Given the description of an element on the screen output the (x, y) to click on. 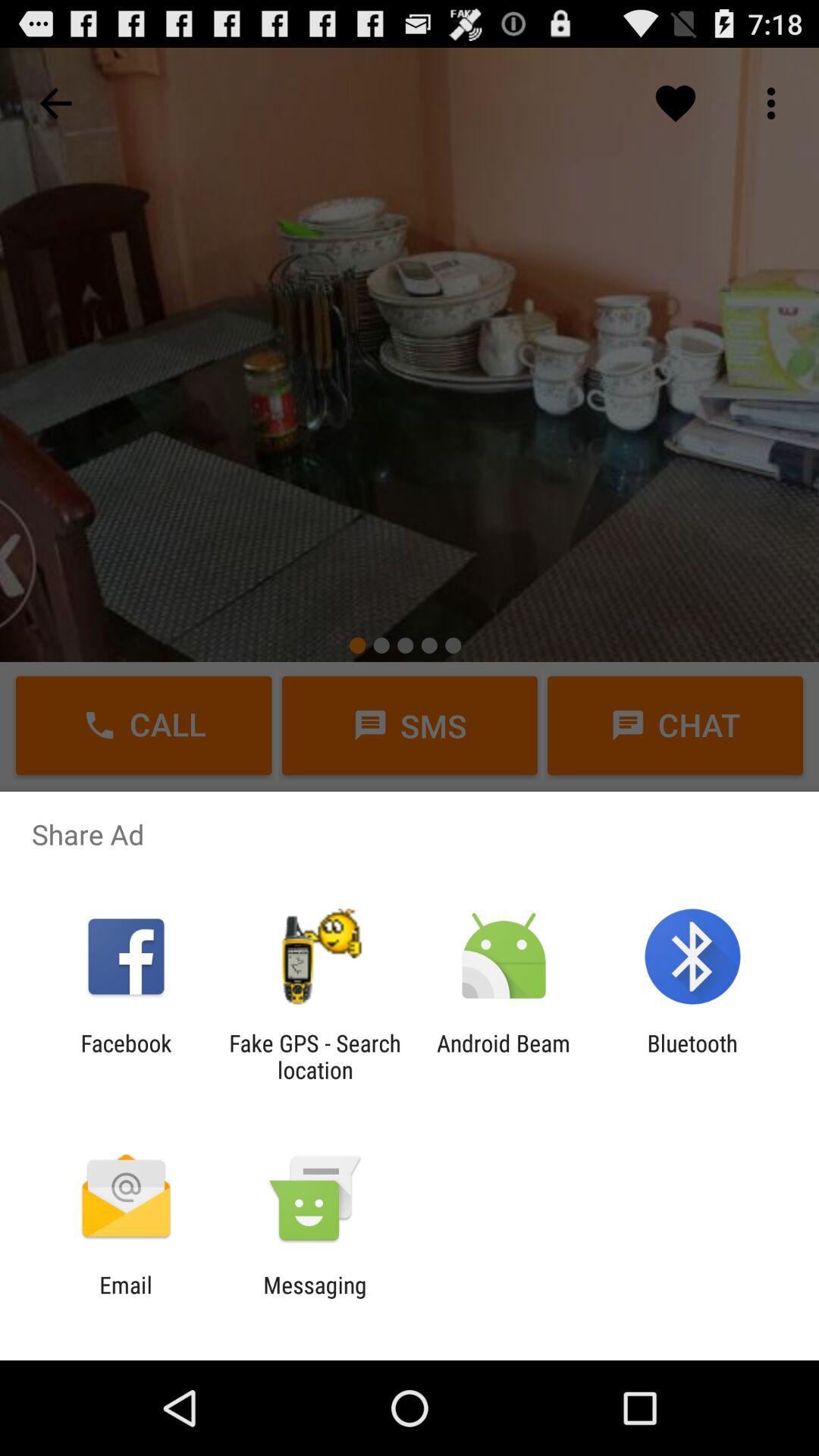
jump until the facebook (125, 1056)
